Given the description of an element on the screen output the (x, y) to click on. 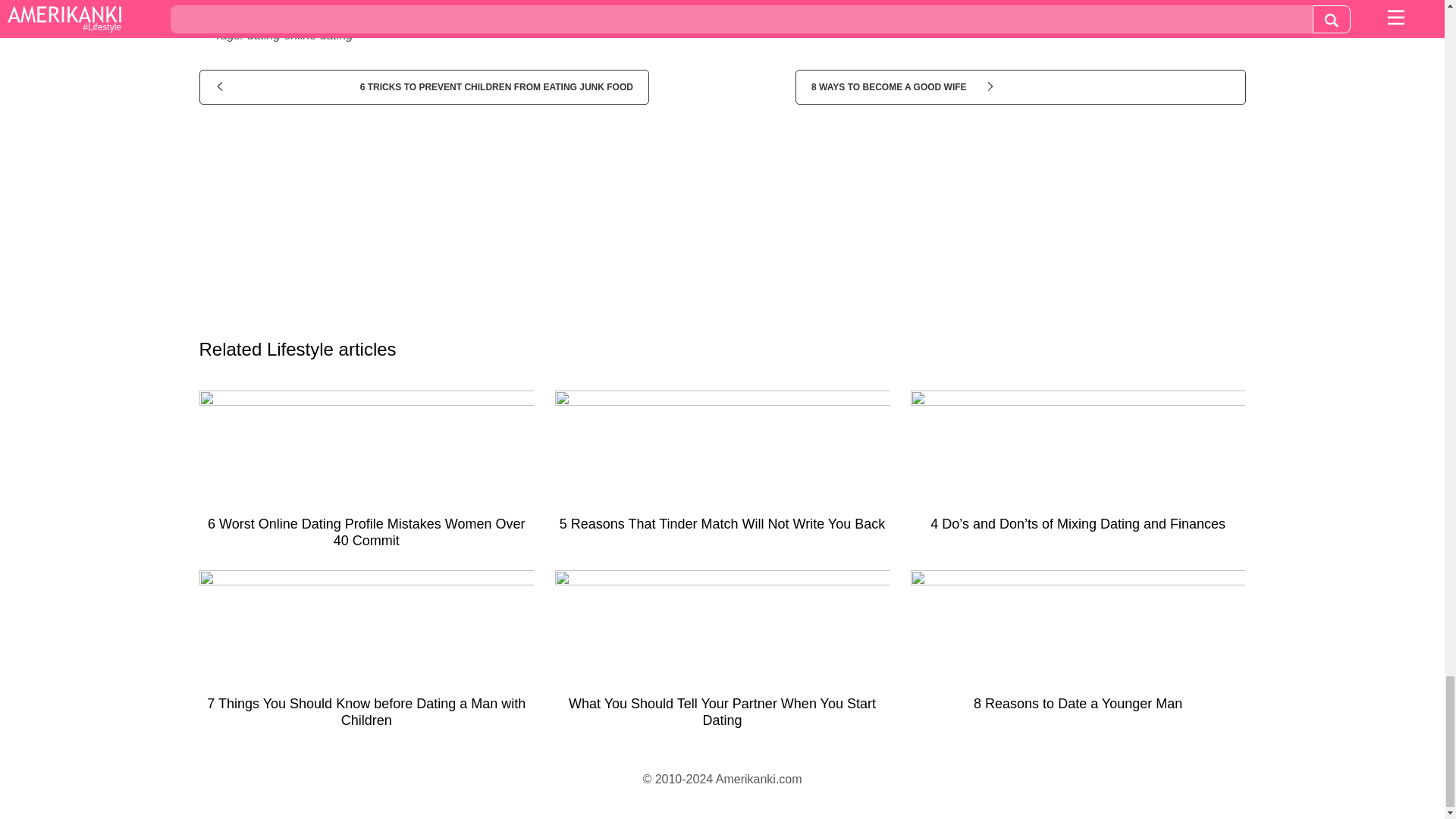
6 Worst Online Dating Profile Mistakes Women Over 40 Commit (366, 475)
Share on Twitter (748, 5)
6 TRICKS TO PREVENT CHILDREN FROM EATING JUNK FOOD (422, 86)
8 Ways to Become a Good Wife (1019, 86)
6 Tricks to Prevent Children from Eating Junk Food (422, 86)
8 WAYS TO BECOME A GOOD WIFE (1019, 86)
5 Reasons That Tinder Match Will Not Write You Back (721, 467)
Share on Facebook (381, 5)
